Given the description of an element on the screen output the (x, y) to click on. 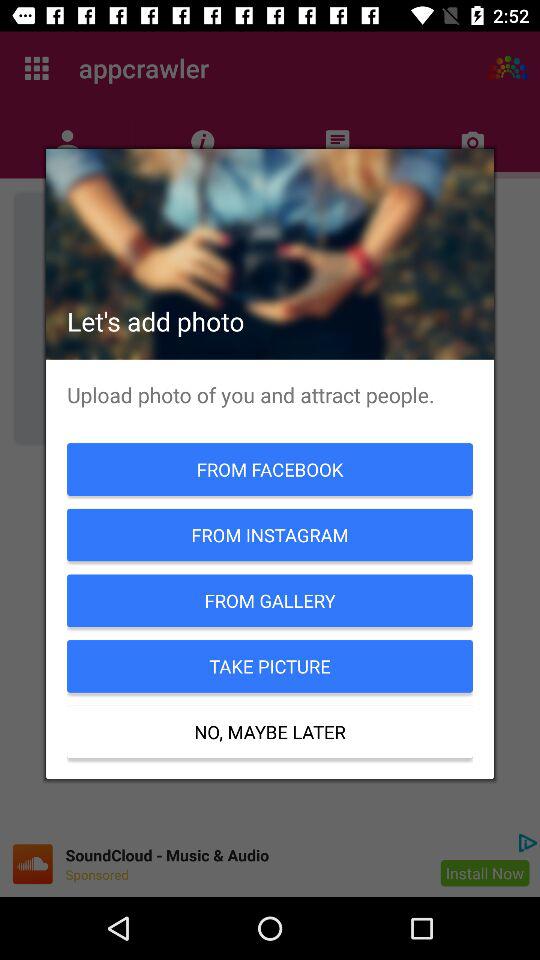
select icon above the from instagram item (269, 469)
